Given the description of an element on the screen output the (x, y) to click on. 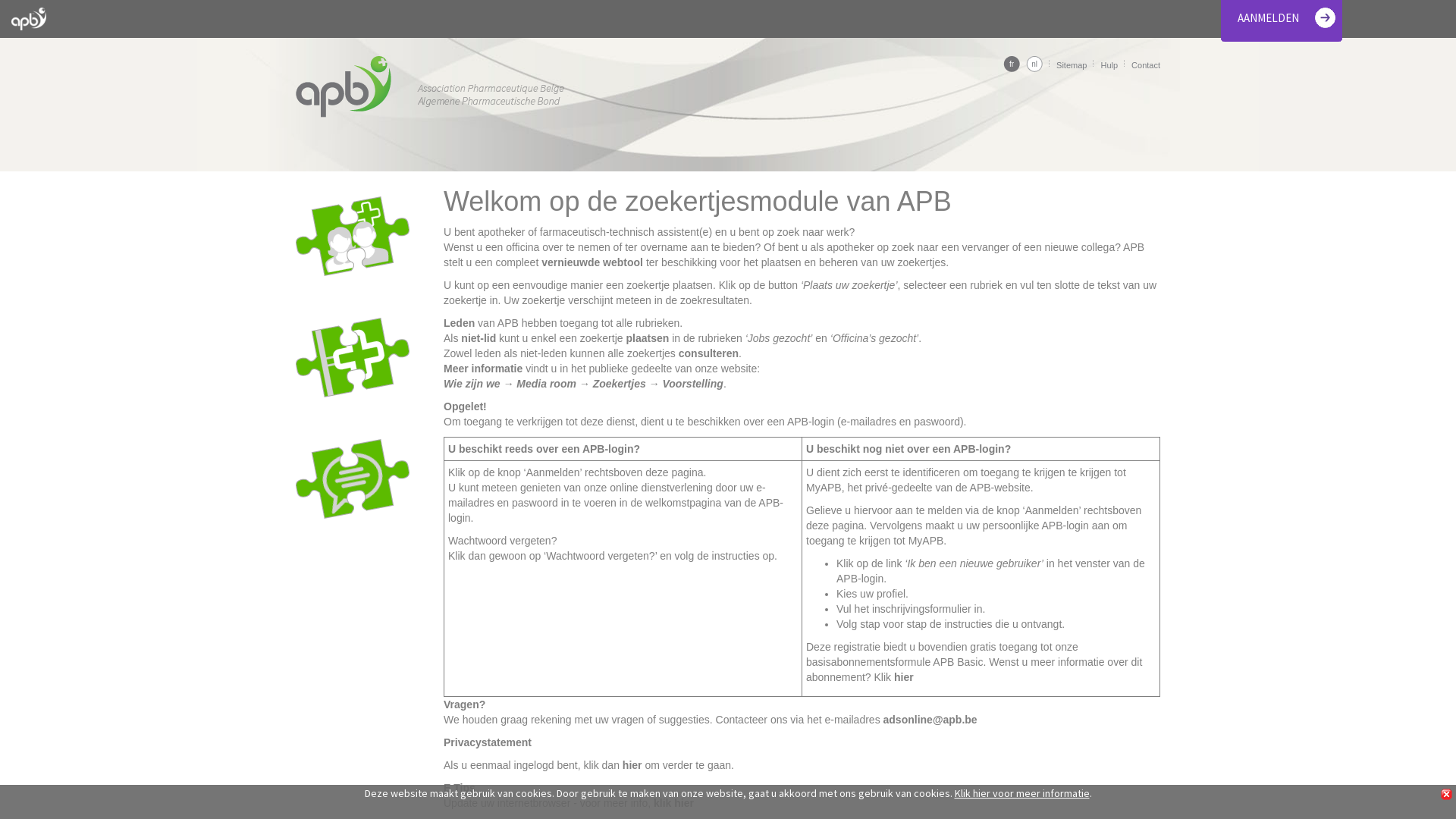
APB Element type: text (429, 86)
Klik hier voor meer informatie Element type: text (1020, 793)
hier Element type: text (632, 765)
nl Element type: text (1034, 64)
Sitemap Element type: text (1071, 64)
Privacystatement Element type: text (487, 742)
AANMELDEN Element type: text (1267, 17)
fr Element type: text (1011, 64)
hier Element type: text (903, 677)
Contact Element type: text (1145, 64)
klik hier Element type: text (673, 803)
adsonline@apb.be Element type: text (930, 719)
Hulp Element type: text (1108, 64)
Dicht Element type: hover (1446, 794)
